Given the description of an element on the screen output the (x, y) to click on. 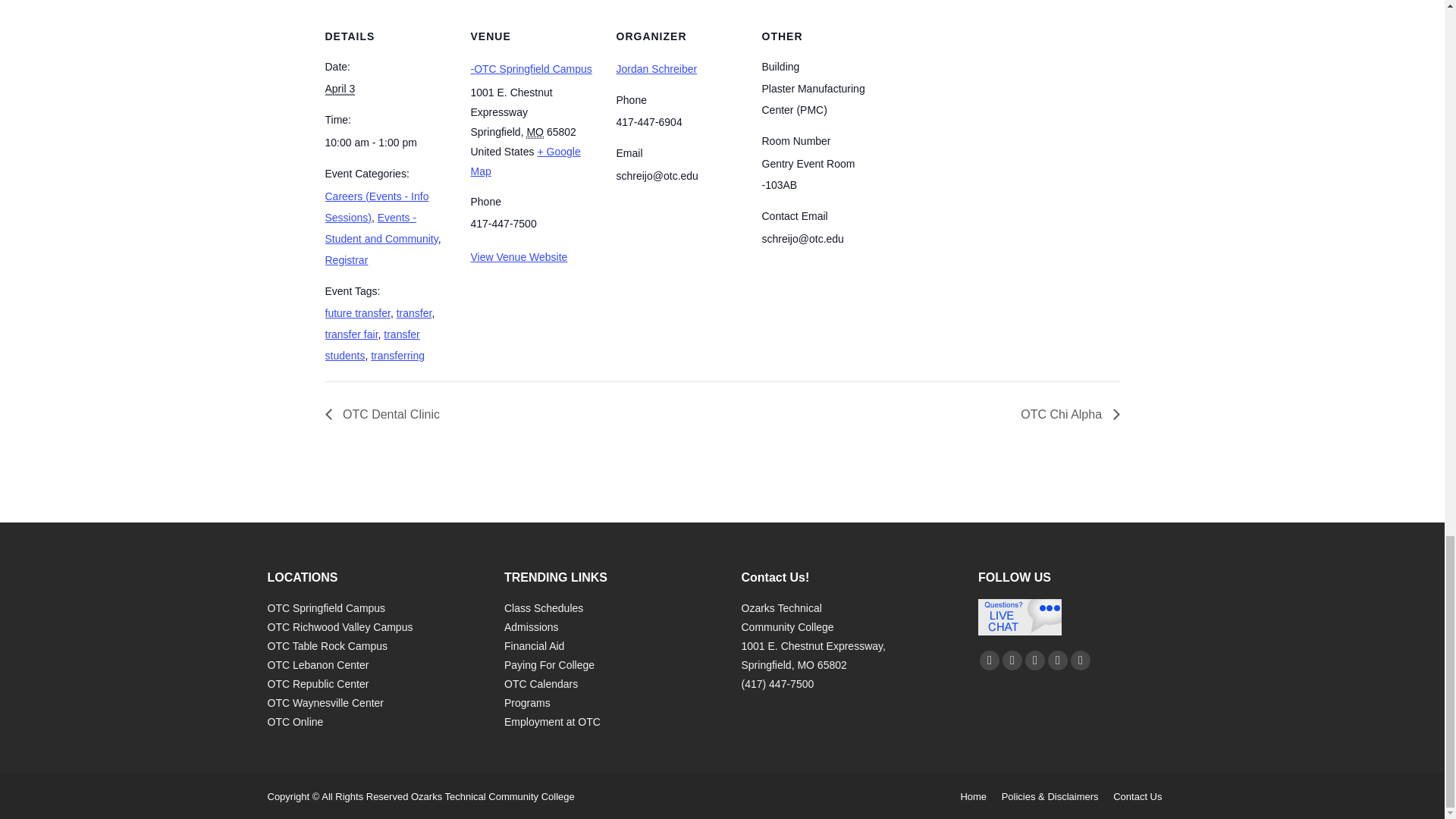
2024-04-03 (387, 142)
Missouri (534, 132)
2024-04-03 (339, 88)
